Given the description of an element on the screen output the (x, y) to click on. 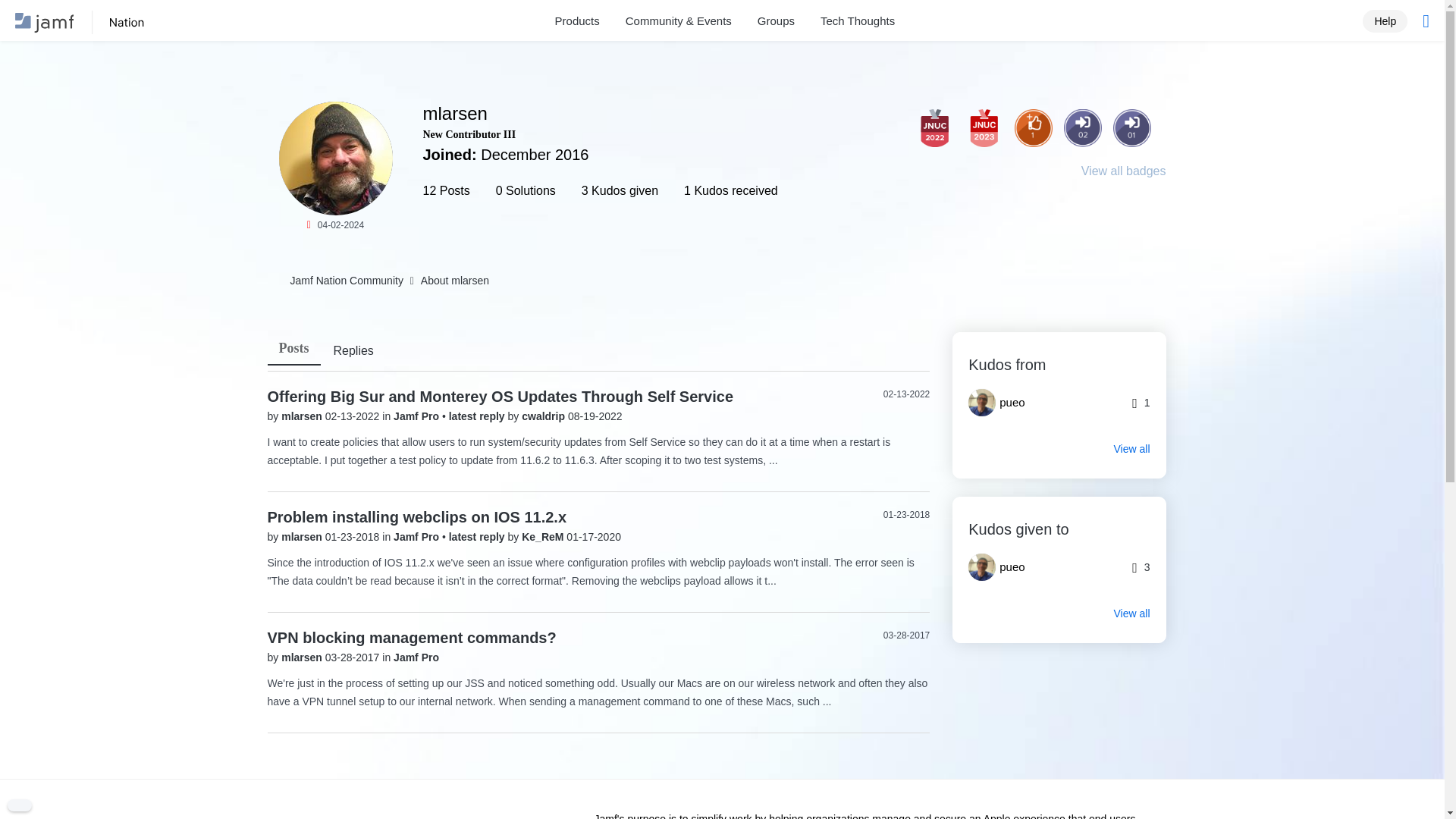
VPN blocking management commands? (411, 637)
Kudos Received (1033, 127)
Replies Authored (983, 180)
01-23-2018 03:32 PM 01-23-2018 03:32 PM (906, 514)
02-13-2022 07:03 AM 02-13-2022 07:03 AM (906, 394)
mlarsen (336, 158)
Jamf Pro (417, 416)
Replies (352, 351)
View post (478, 416)
Jamf Pro (417, 536)
